Given the description of an element on the screen output the (x, y) to click on. 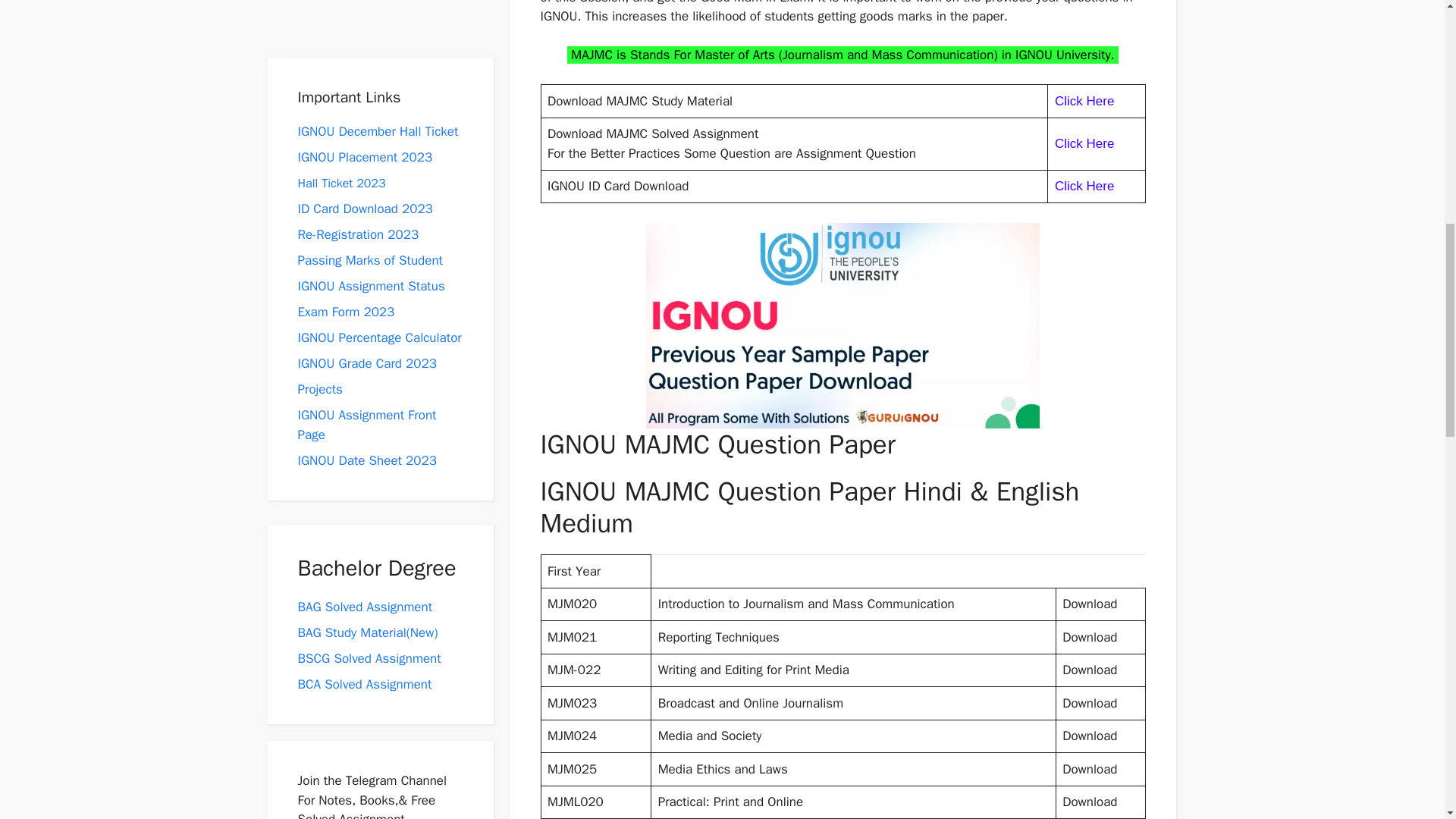
IGNOU Placement 2023 (364, 157)
Advertisement (387, 24)
Click Here (1083, 186)
Click Here (1083, 143)
Click Here (1083, 101)
Hall Ticket 2023 (341, 183)
IGNOU December Hall Ticket (377, 131)
